Given the description of an element on the screen output the (x, y) to click on. 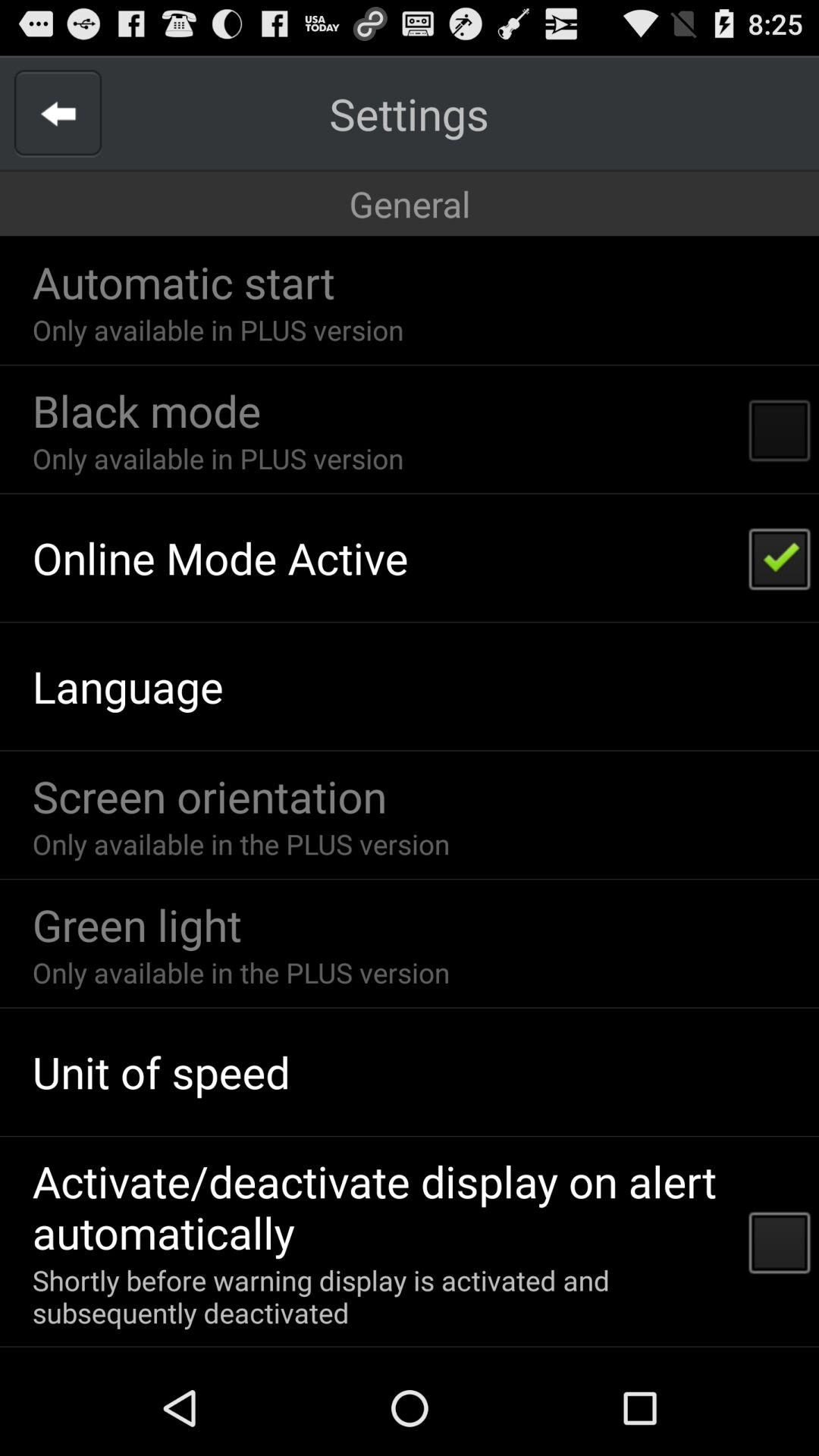
click the item below only available in icon (220, 557)
